Given the description of an element on the screen output the (x, y) to click on. 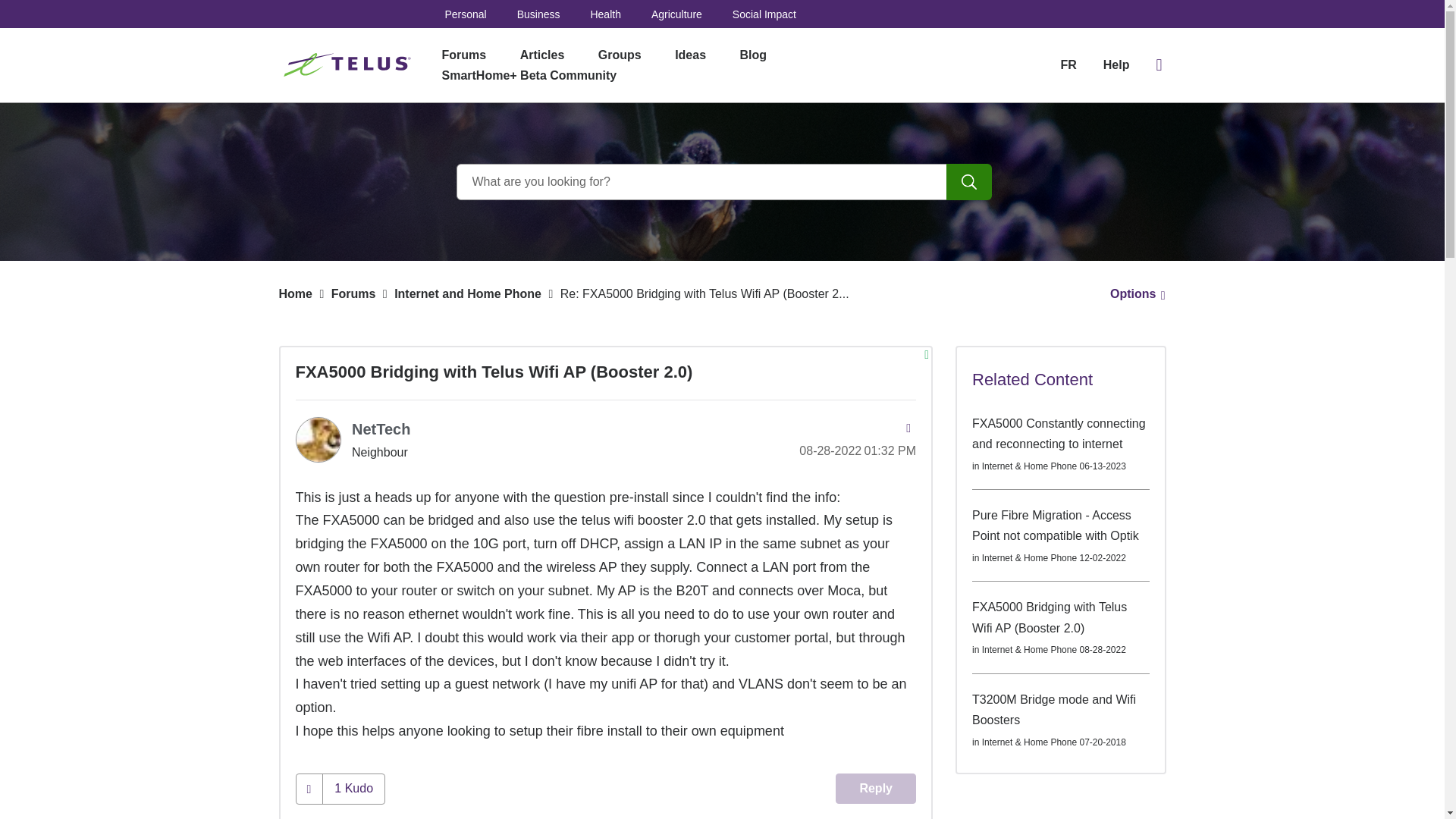
Business (538, 14)
Articles (542, 55)
FR (1067, 64)
Click here to give kudos to this post. (309, 788)
Ideas (689, 55)
Search (968, 181)
Forums (353, 293)
Internet and Home Phone (467, 293)
Search (968, 181)
Search (722, 181)
TELUS Neighbourhood (348, 64)
Social Impact (764, 14)
NetTech (381, 428)
Groups (619, 55)
Click here to see who gave kudos to this post. (353, 788)
